Given the description of an element on the screen output the (x, y) to click on. 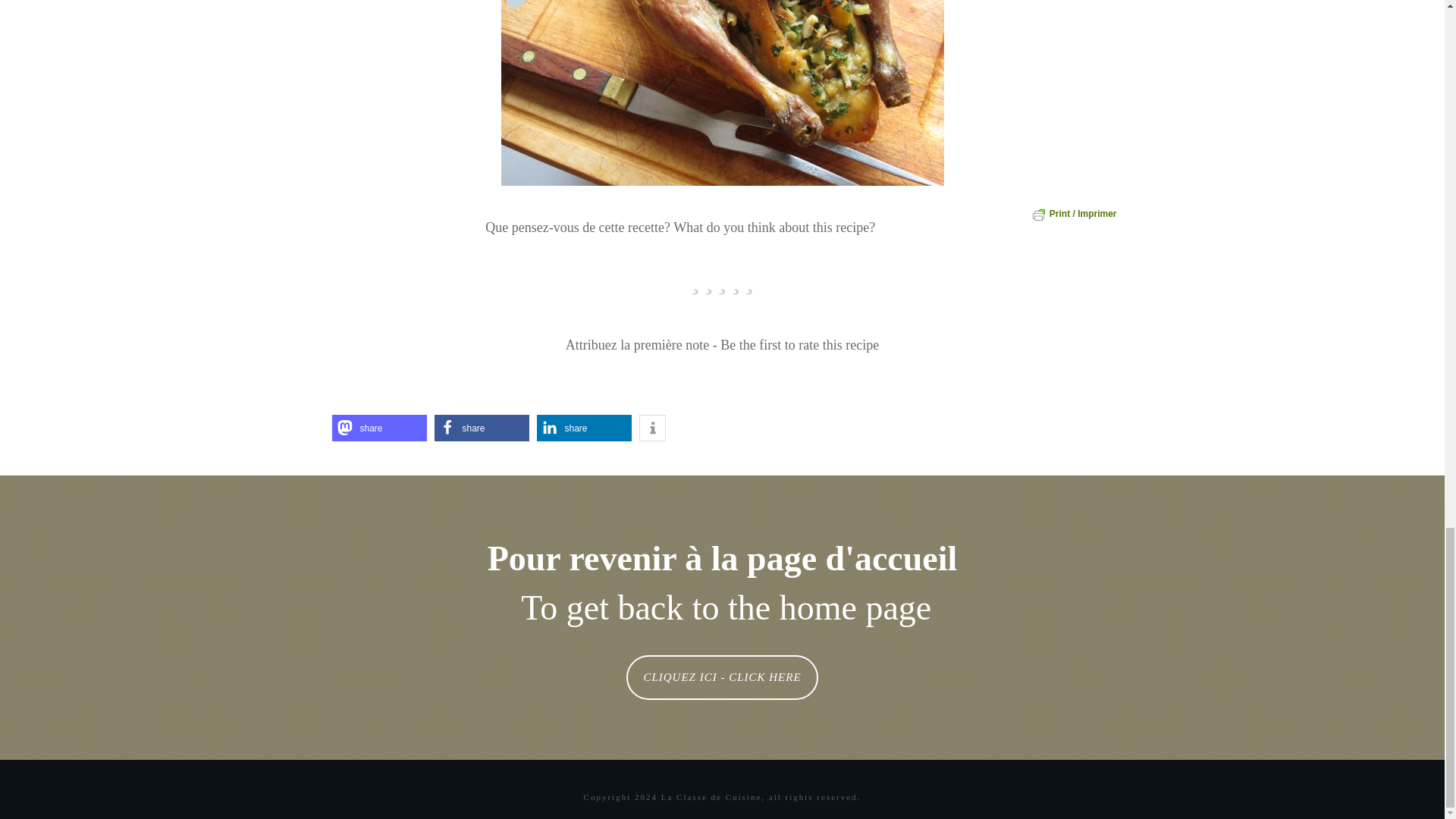
More information (652, 427)
Share on LinkedIn (584, 427)
share  (584, 427)
Share on Mastodon (378, 427)
CLIQUEZ ICI - CLICK HERE (721, 677)
share  (378, 427)
Share on Facebook (480, 427)
share  (480, 427)
